Given the description of an element on the screen output the (x, y) to click on. 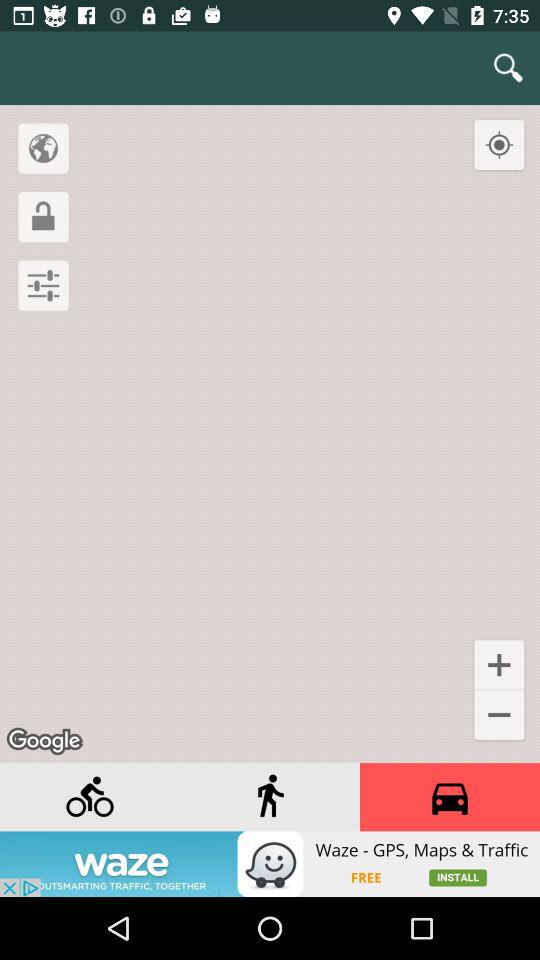
location option (43, 148)
